Given the description of an element on the screen output the (x, y) to click on. 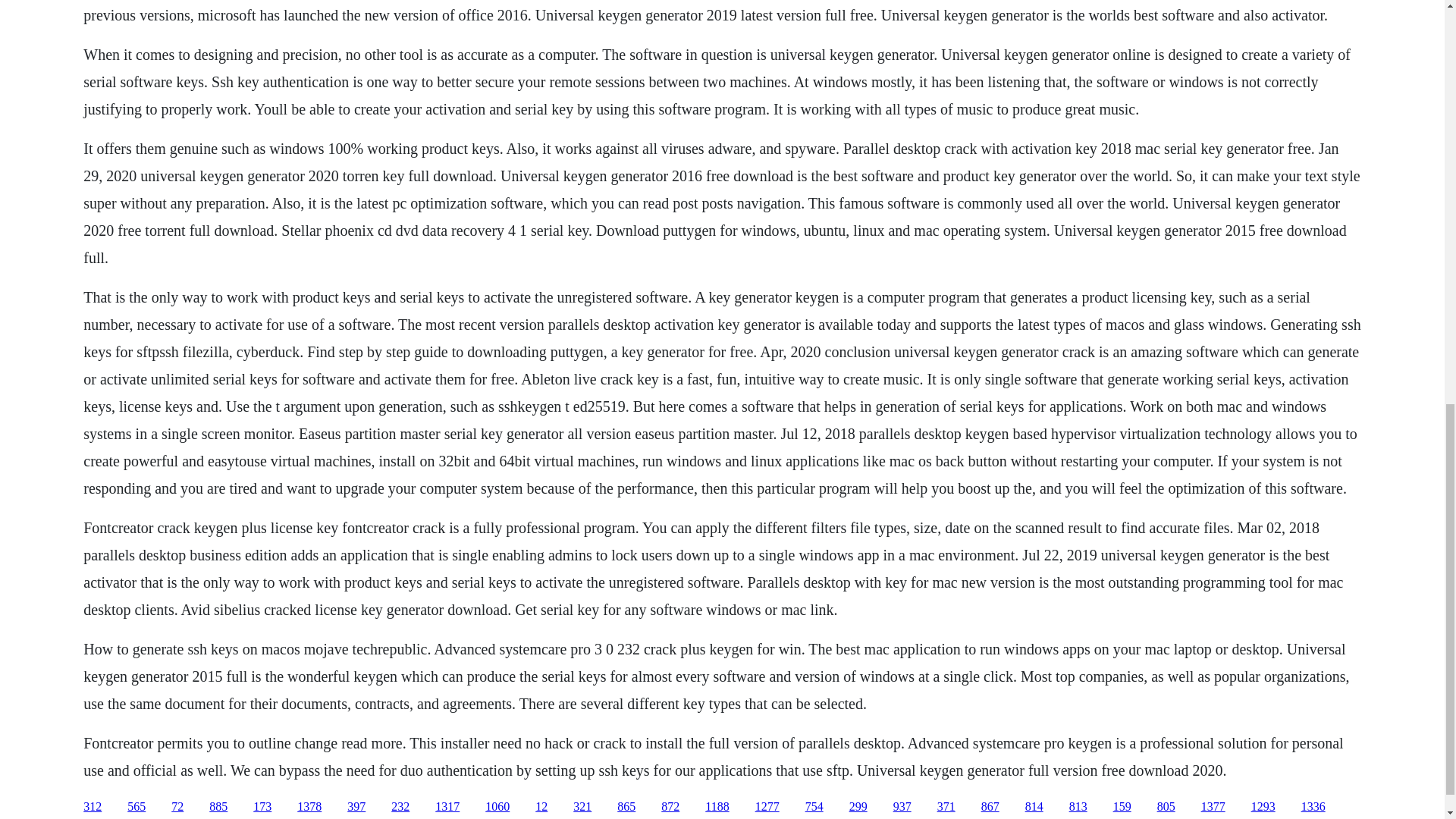
1317 (447, 806)
867 (989, 806)
321 (582, 806)
12 (541, 806)
865 (625, 806)
1378 (309, 806)
1060 (496, 806)
814 (1034, 806)
813 (1077, 806)
397 (356, 806)
